Given the description of an element on the screen output the (x, y) to click on. 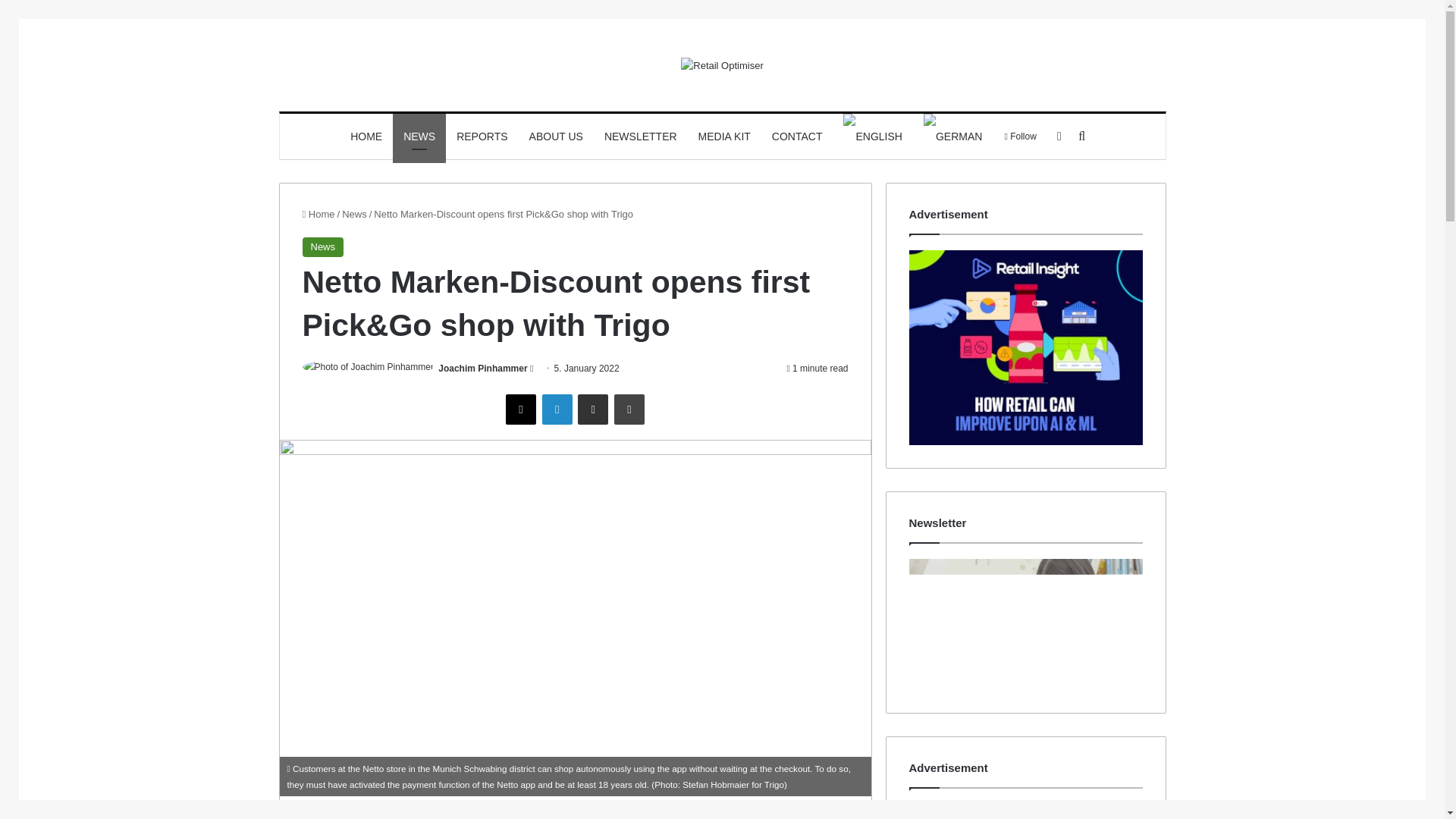
NEWS (419, 135)
X (520, 409)
Follow (1019, 135)
LinkedIn (556, 409)
MEDIA KIT (724, 135)
HOME (366, 135)
Retail Optimiser (721, 64)
CONTACT (796, 135)
Home (317, 214)
Joachim Pinhammer (482, 368)
